Given the description of an element on the screen output the (x, y) to click on. 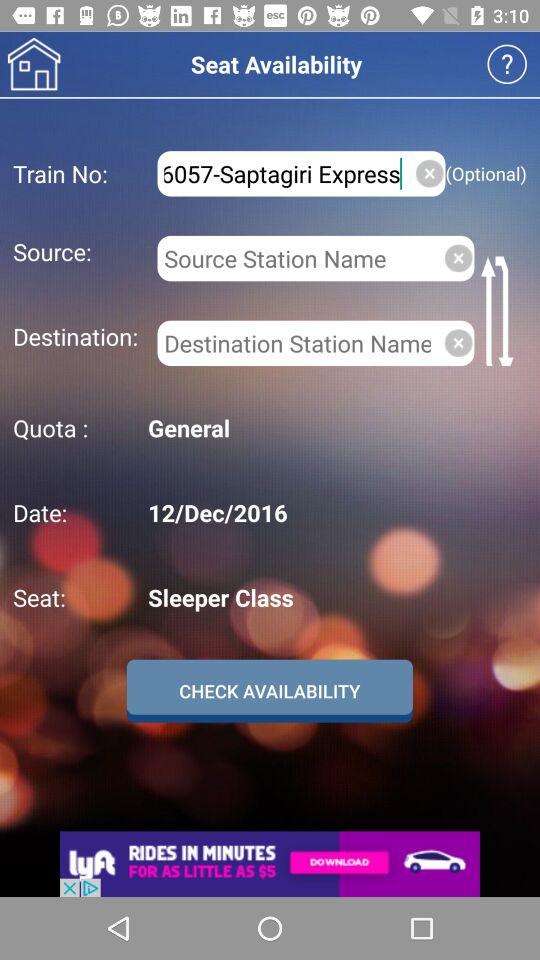
mrore info (506, 64)
